Given the description of an element on the screen output the (x, y) to click on. 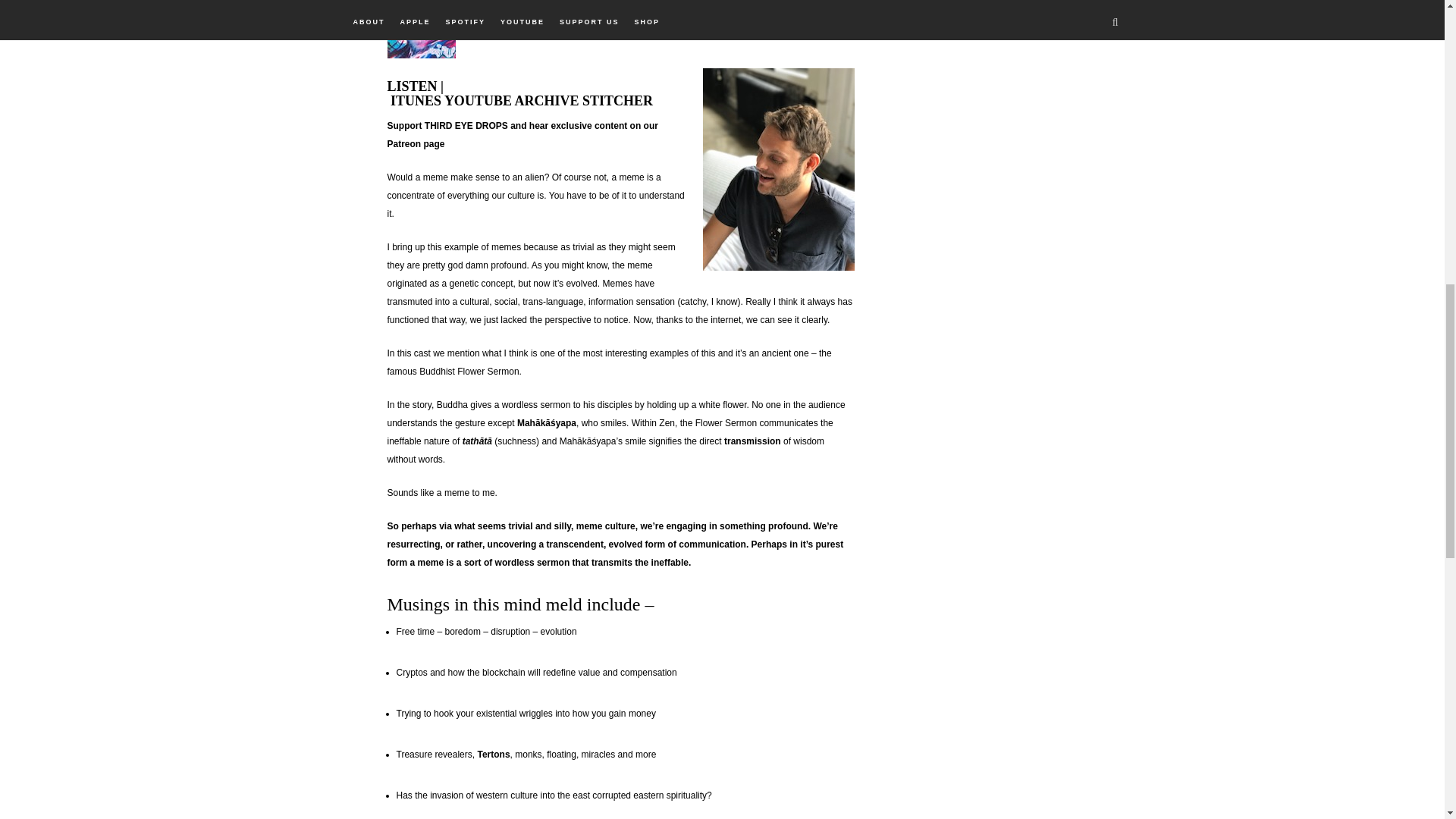
ITUNES (415, 100)
transmission (751, 440)
STITCHER (617, 100)
Tertons (493, 754)
ARCHIVE (545, 100)
YOUTUBE (478, 100)
